Given the description of an element on the screen output the (x, y) to click on. 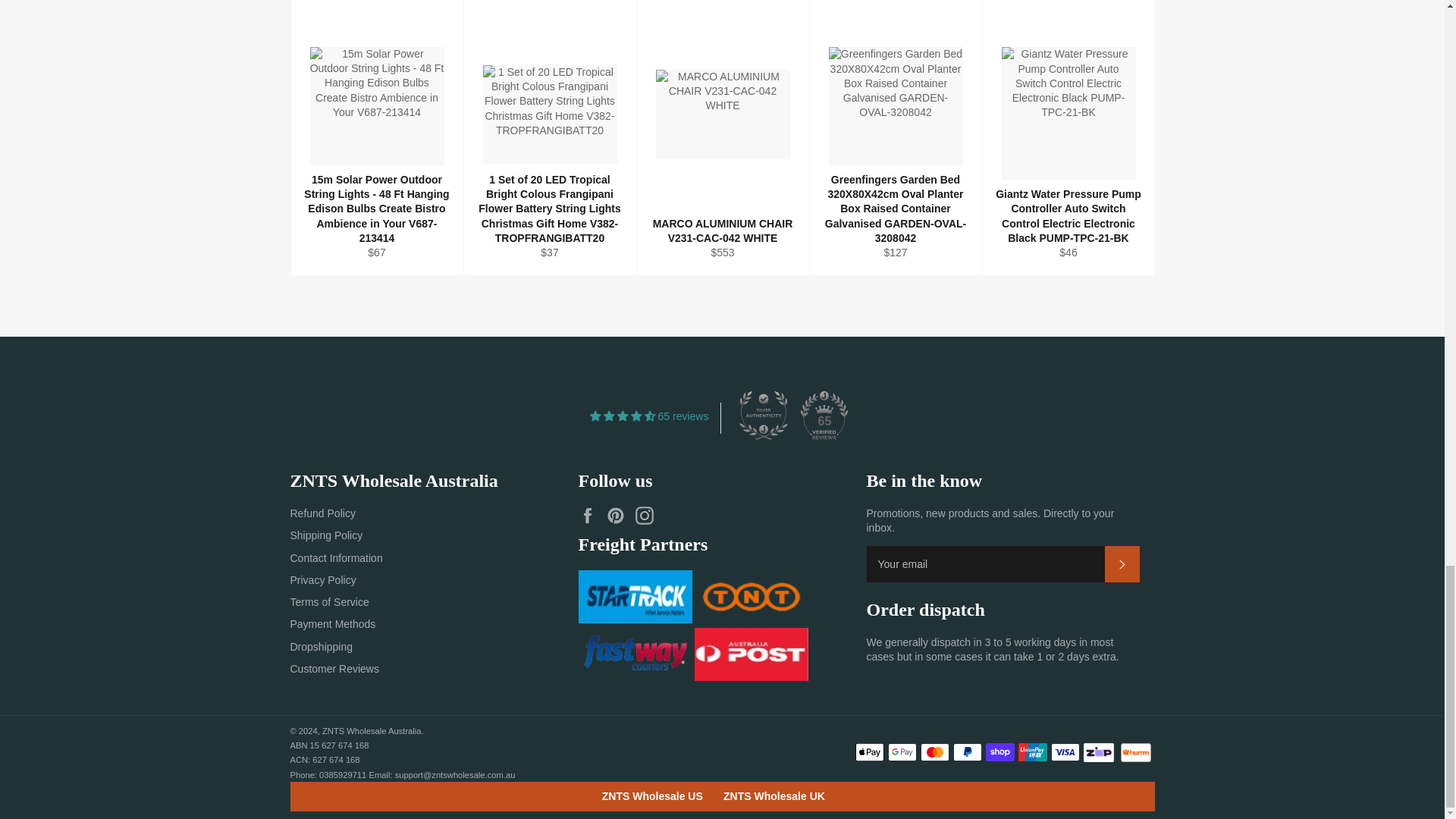
ZNTS Wholesale Australia on Pinterest (619, 515)
ZNTS Wholesale Australia on Facebook (591, 515)
ZNTS Wholesale Australia on Instagram (647, 515)
